Given the description of an element on the screen output the (x, y) to click on. 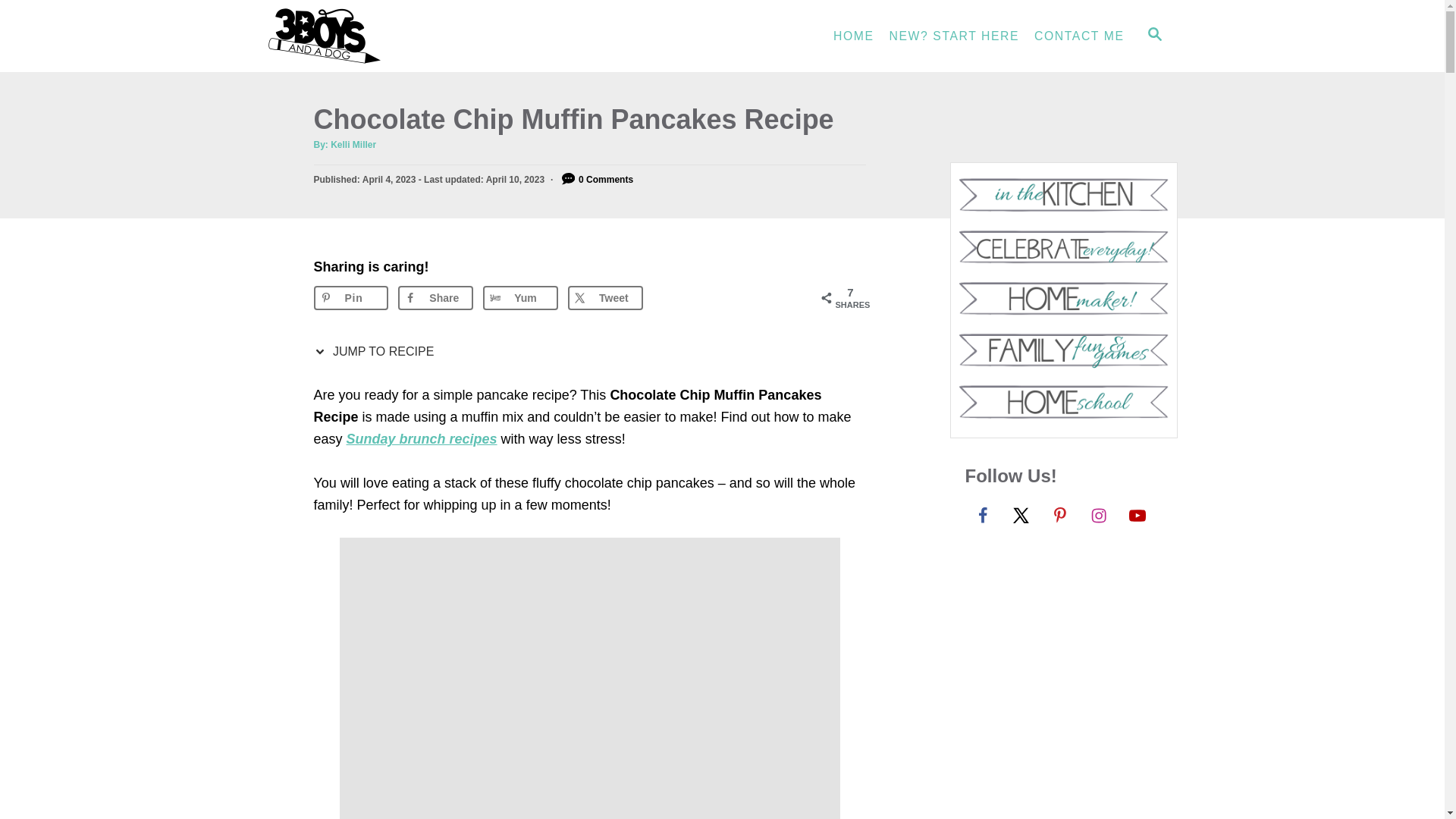
HOME (853, 36)
3 Boys and a Dog (403, 36)
Share on X (605, 297)
Share on Facebook (435, 297)
CONTACT ME (1078, 36)
Yum (520, 297)
Pin (351, 297)
Share (435, 297)
Share on Yummly (520, 297)
Save to Pinterest (351, 297)
Sunday brunch recipes (421, 438)
SEARCH (1153, 35)
JUMP TO RECIPE (378, 351)
Tweet (605, 297)
Kelli Miller (352, 144)
